Given the description of an element on the screen output the (x, y) to click on. 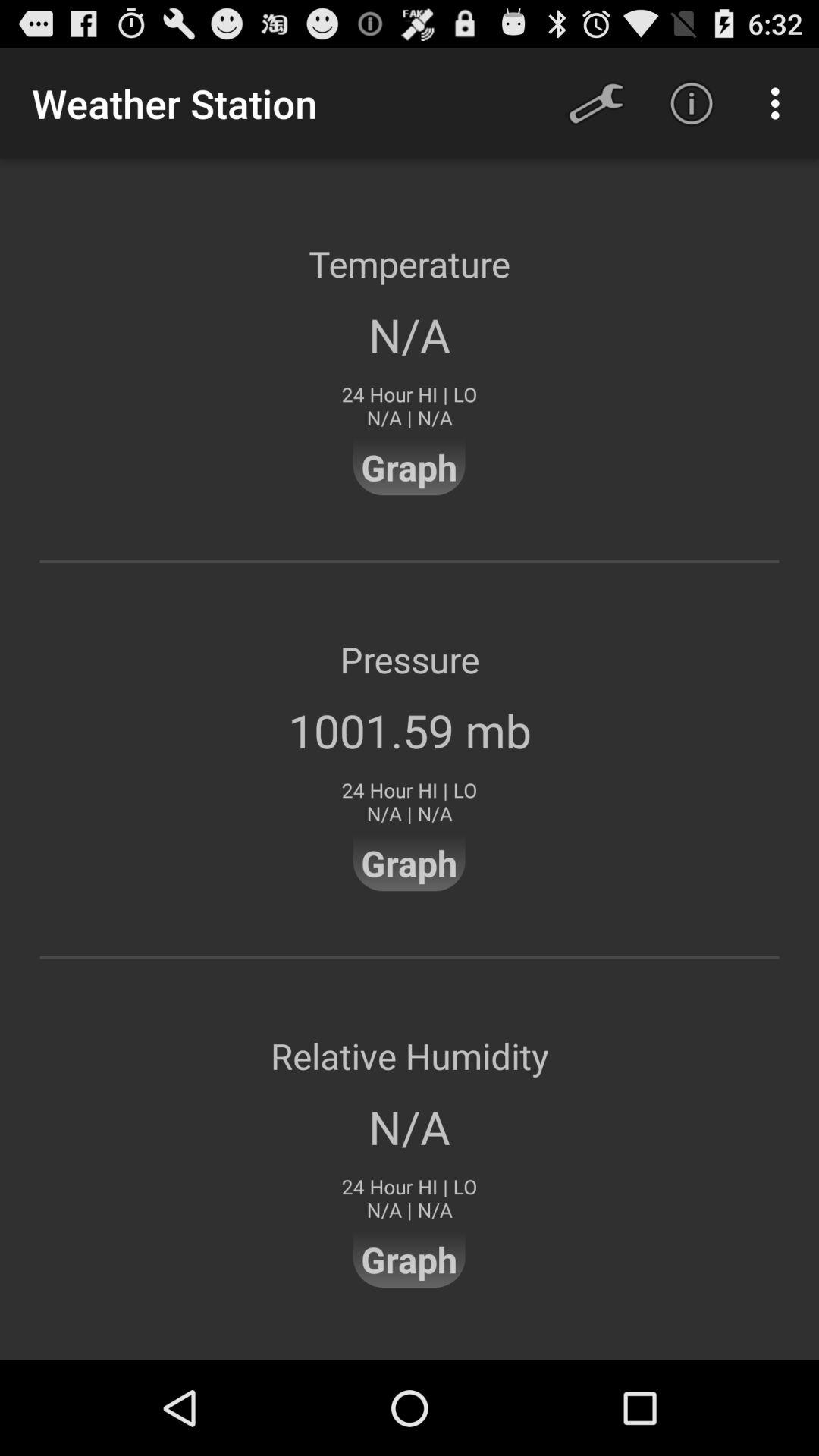
click the item above the temperature (595, 103)
